Given the description of an element on the screen output the (x, y) to click on. 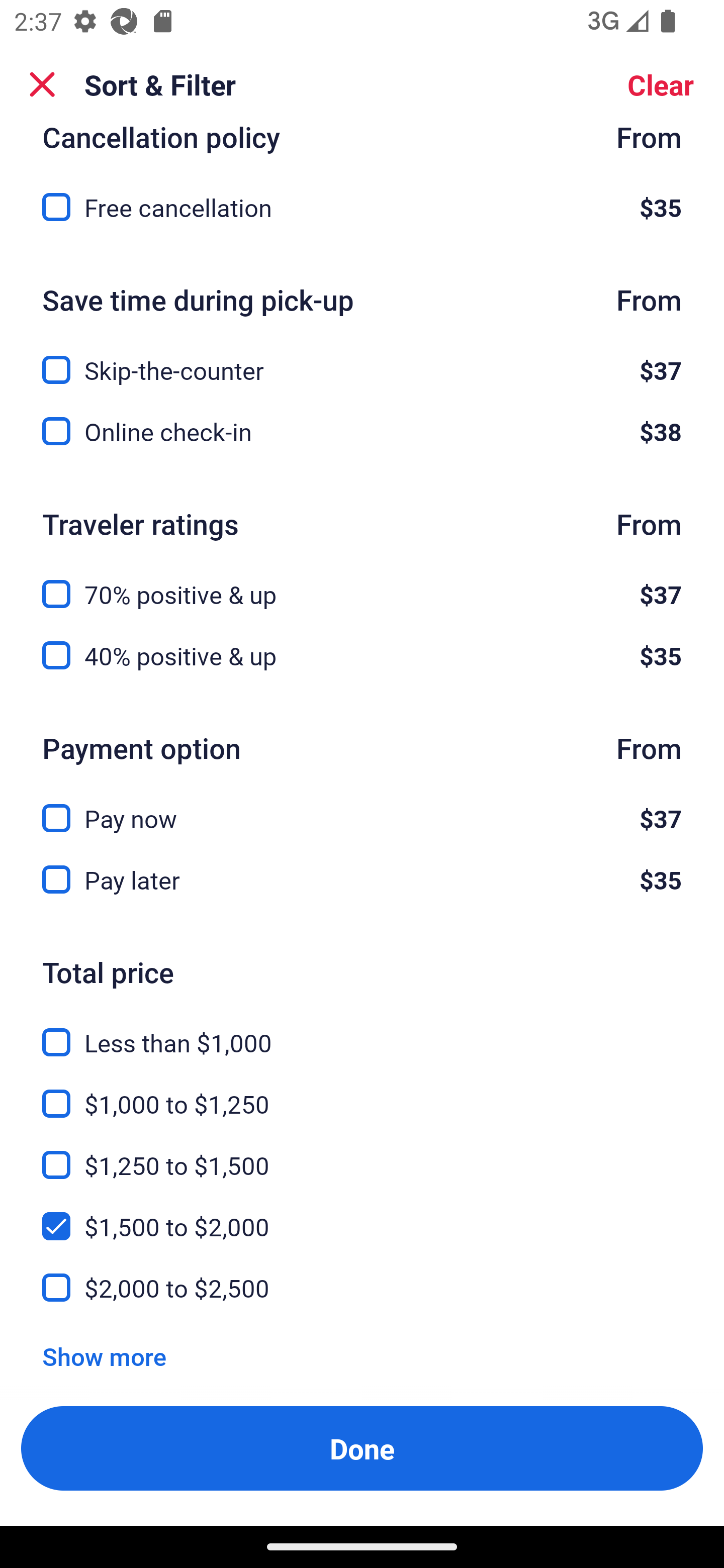
Close Sort and Filter (42, 84)
Clear (660, 84)
Free cancellation, $35 Free cancellation $35 (361, 206)
Skip-the-counter, $37 Skip-the-counter $37 (361, 357)
Online check-in, $38 Online check-in $38 (361, 430)
70% positive & up, $37 70% positive & up $37 (361, 582)
40% positive & up, $35 40% positive & up $35 (361, 655)
Pay now, $37 Pay now $37 (361, 806)
Pay later, $35 Pay later $35 (361, 879)
Less than $1,000, Less than $1,000 (361, 1030)
$1,000 to $1,250, $1,000 to $1,250 (361, 1091)
$1,250 to $1,500, $1,250 to $1,500 (361, 1152)
$1,500 to $2,000, $1,500 to $2,000 (361, 1214)
$2,000 to $2,500, $2,000 to $2,500 (361, 1287)
Show more Show more Link (103, 1355)
Apply and close Sort and Filter Done (361, 1448)
